Given the description of an element on the screen output the (x, y) to click on. 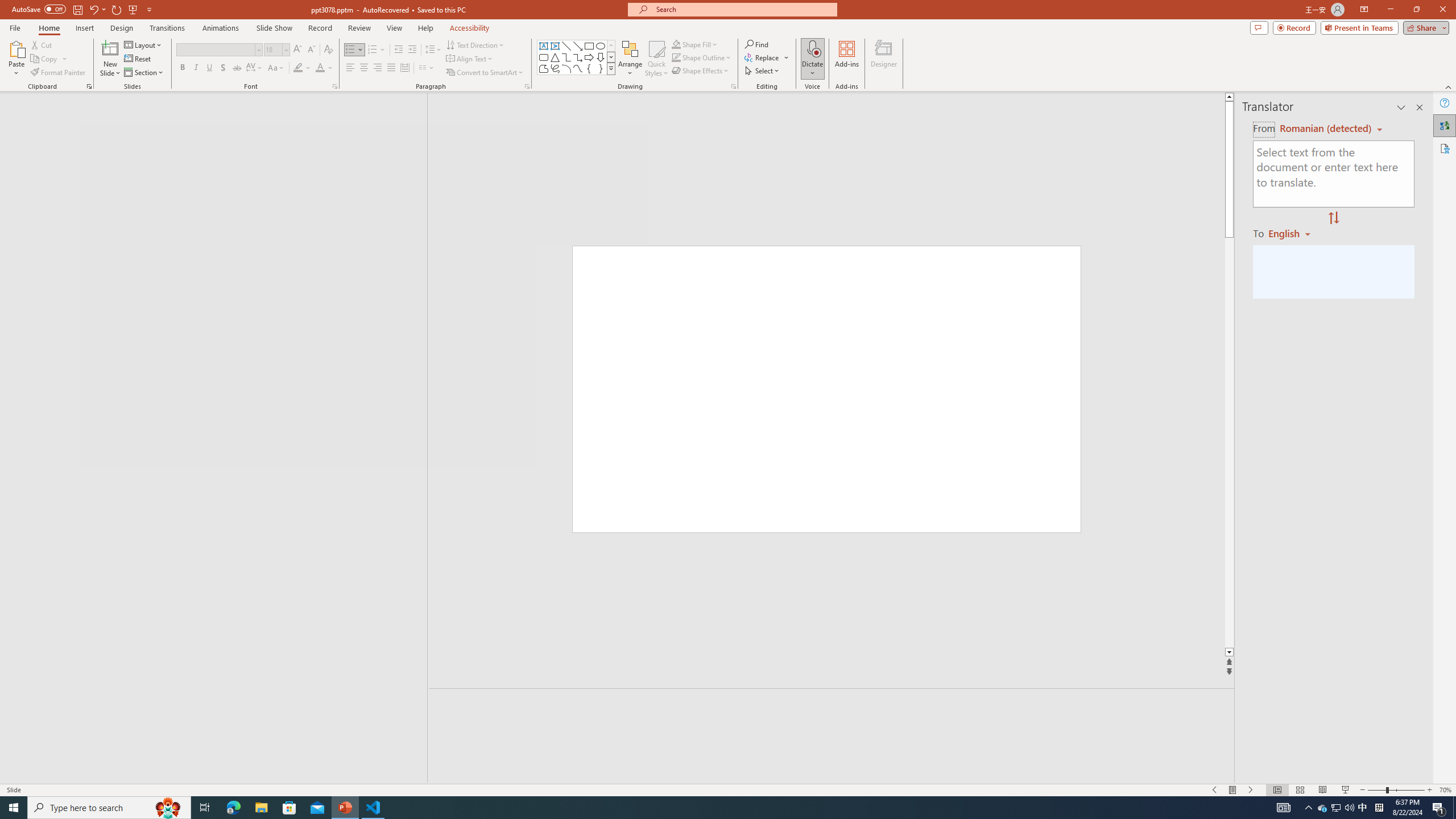
Office Clipboard... (88, 85)
Shadow (223, 67)
Shape Outline (701, 56)
Outline (218, 122)
Quick Styles (656, 58)
Font... (334, 85)
Text Highlight Color Yellow (297, 67)
Text Direction (476, 44)
Freeform: Scribble (554, 68)
Slide Show Previous On (1214, 790)
Align Text (470, 58)
